Given the description of an element on the screen output the (x, y) to click on. 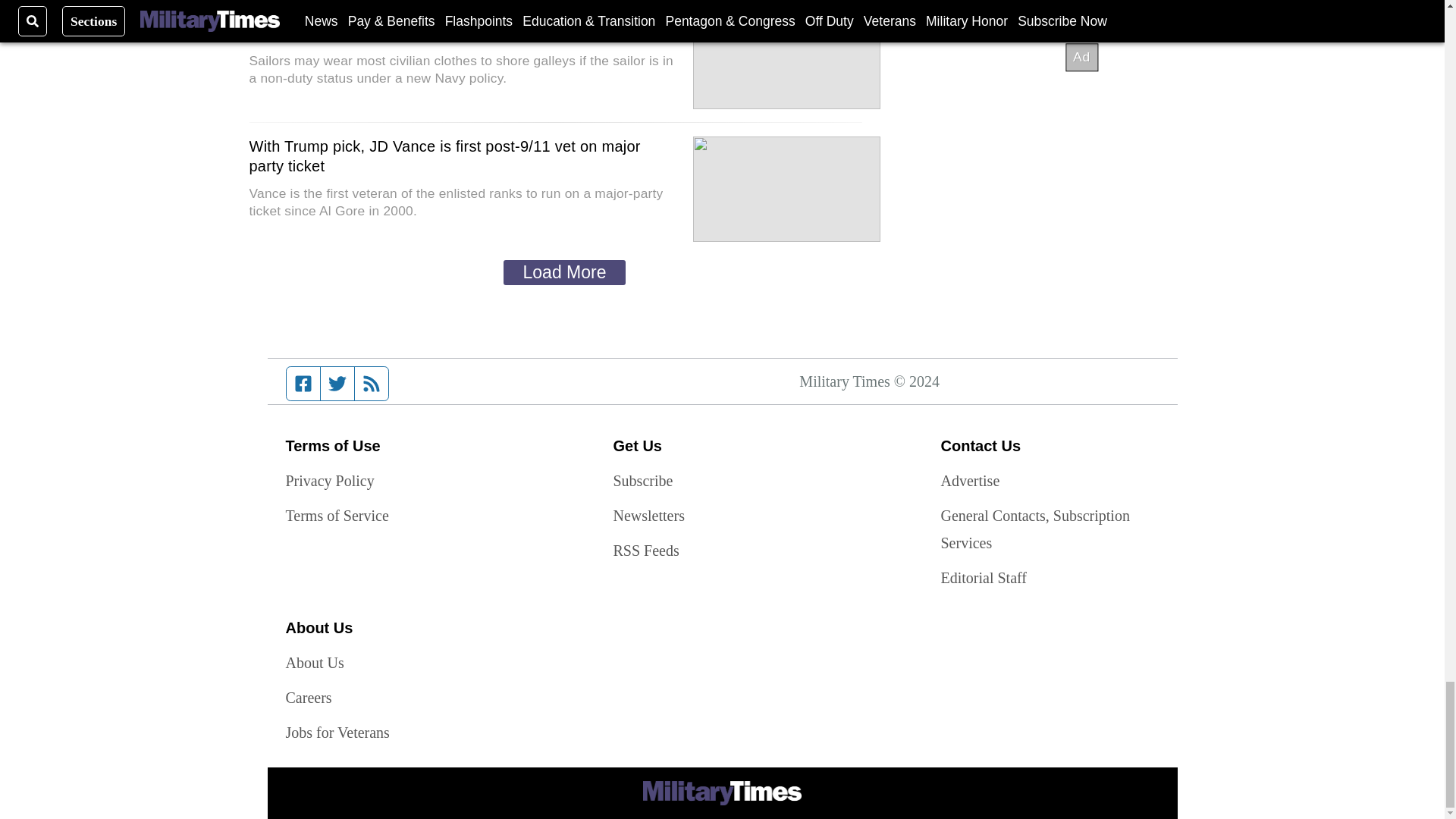
Facebook page (303, 383)
RSS feed (371, 383)
Twitter feed (336, 383)
